Given the description of an element on the screen output the (x, y) to click on. 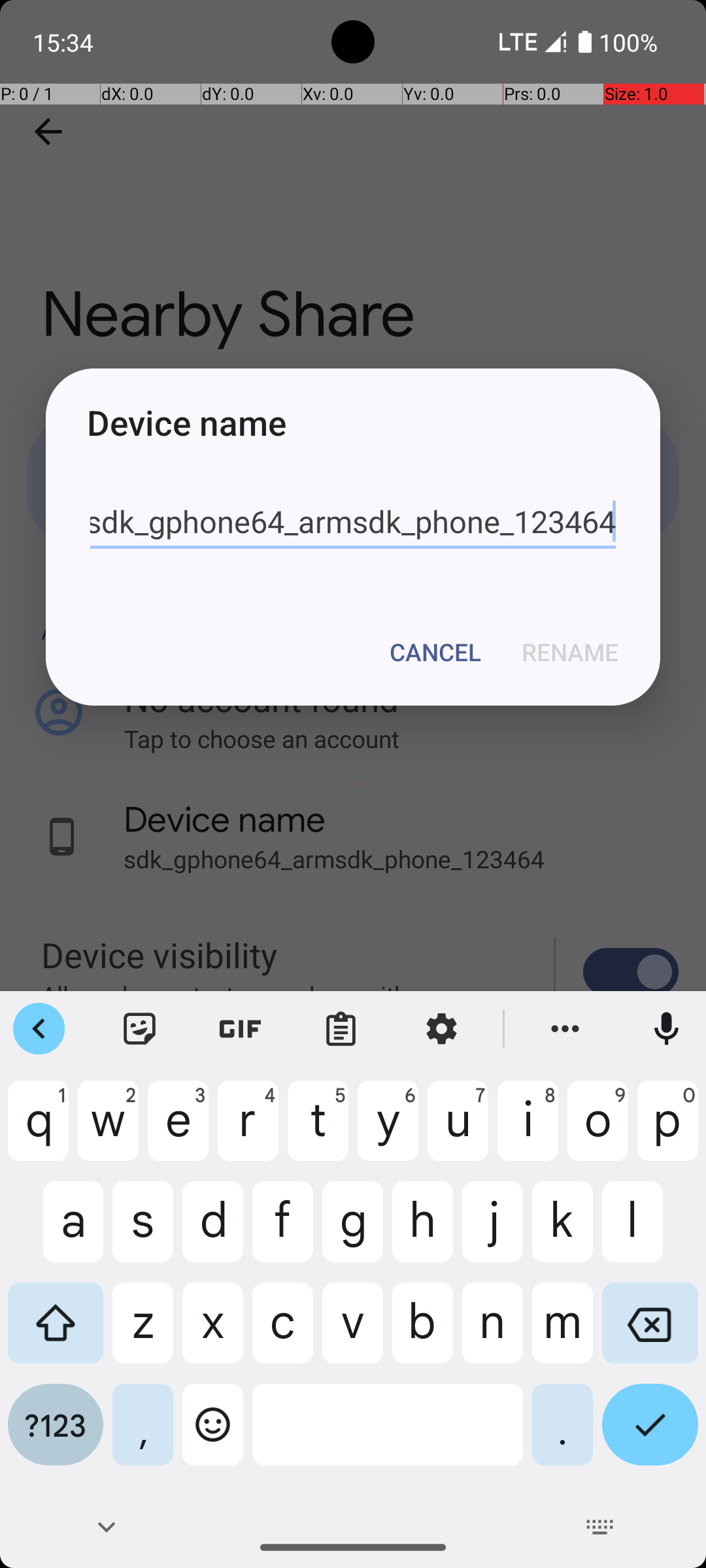
sdk_gphone64_armsdk_phone_123464 Element type: android.widget.EditText (352, 521)
RENAME Element type: android.widget.Button (570, 651)
